Given the description of an element on the screen output the (x, y) to click on. 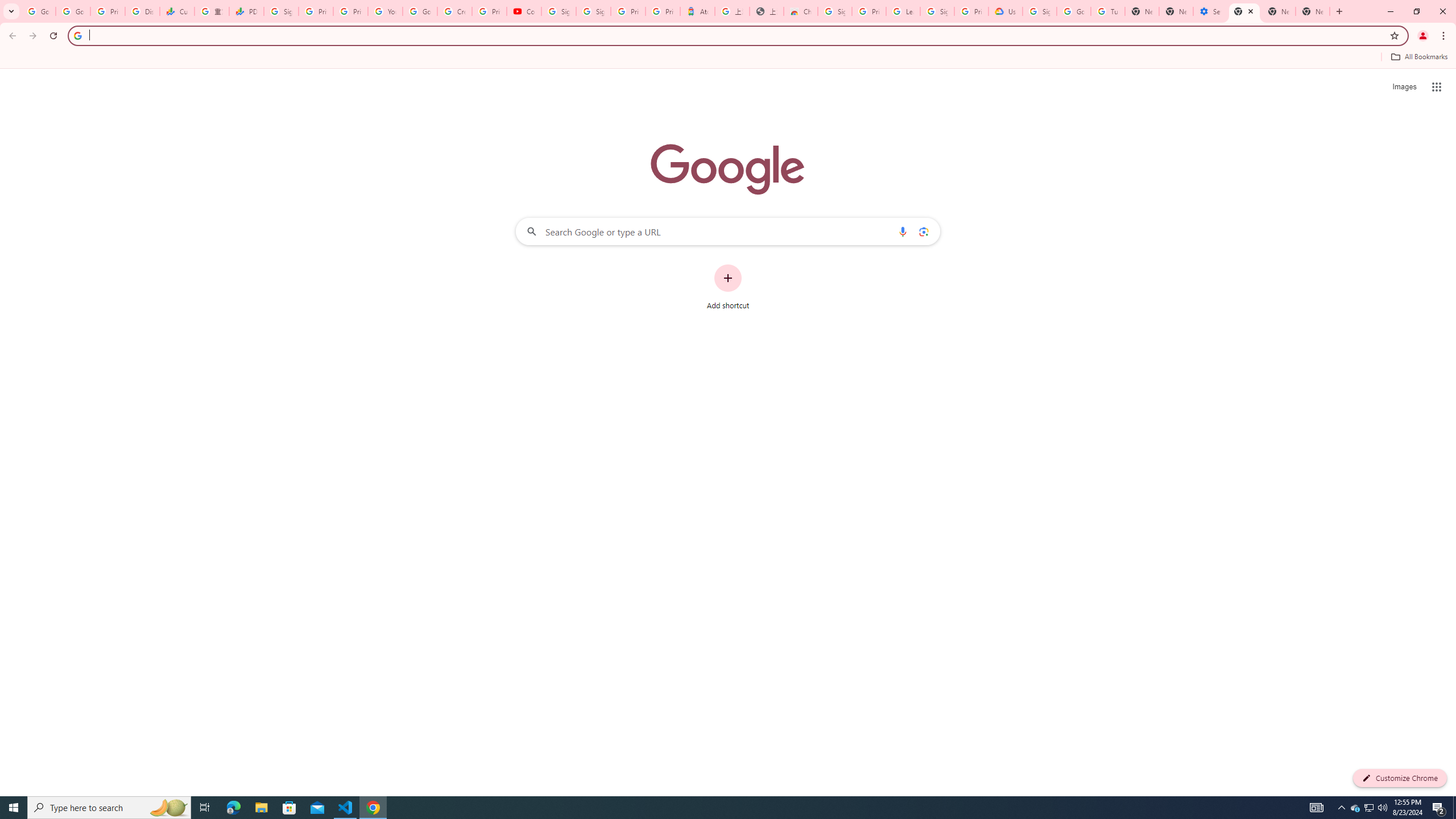
Turn cookies on or off - Computer - Google Account Help (1107, 11)
Search Google or type a URL (727, 230)
